Given the description of an element on the screen output the (x, y) to click on. 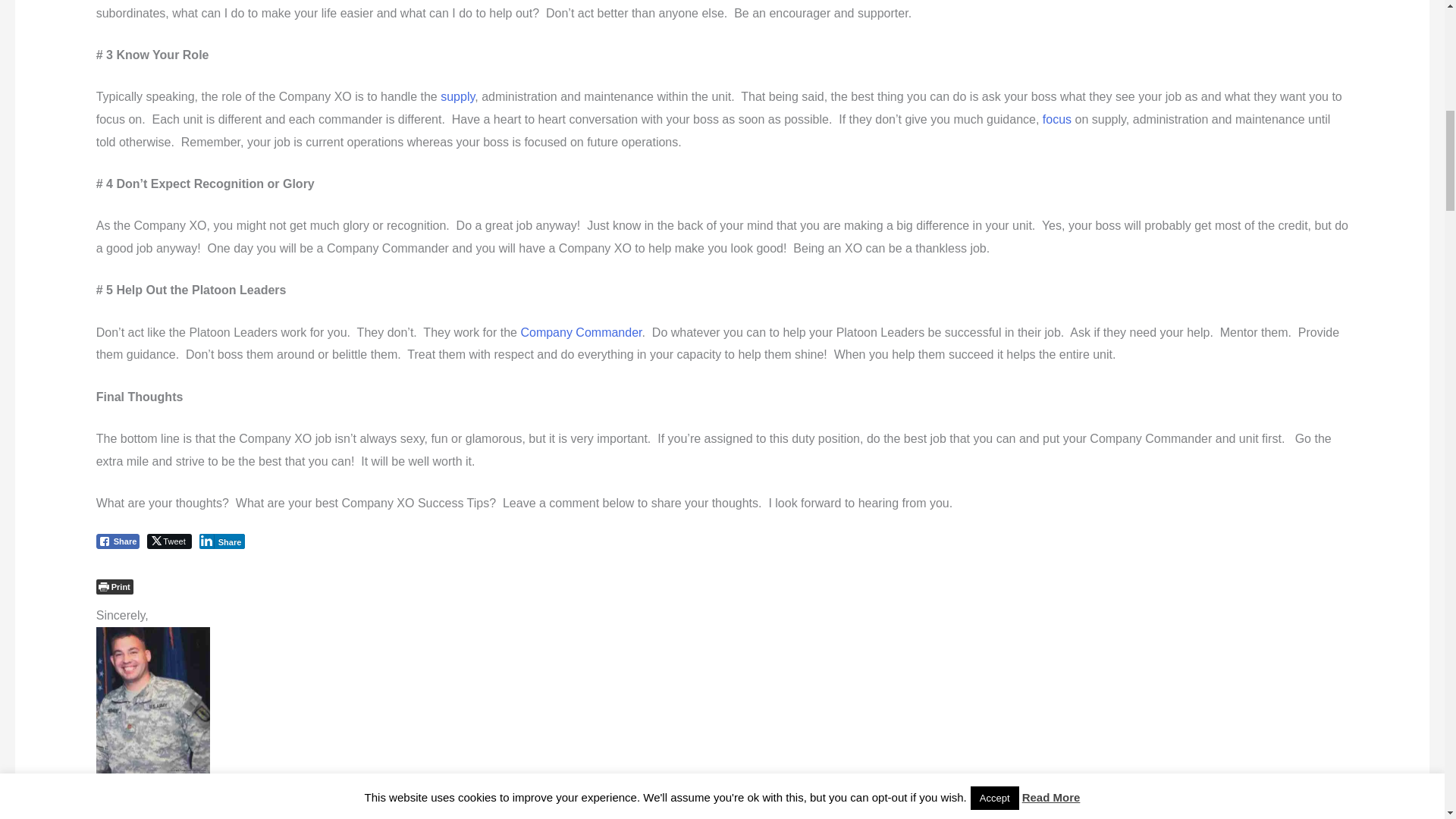
supply (457, 96)
Tweet (168, 540)
focus (1056, 119)
Print (114, 586)
Logistics Smartbook (457, 96)
LG Skincare (1056, 119)
Company Commander Course (580, 332)
Share (117, 540)
Company Commander (580, 332)
Share (222, 540)
